Given the description of an element on the screen output the (x, y) to click on. 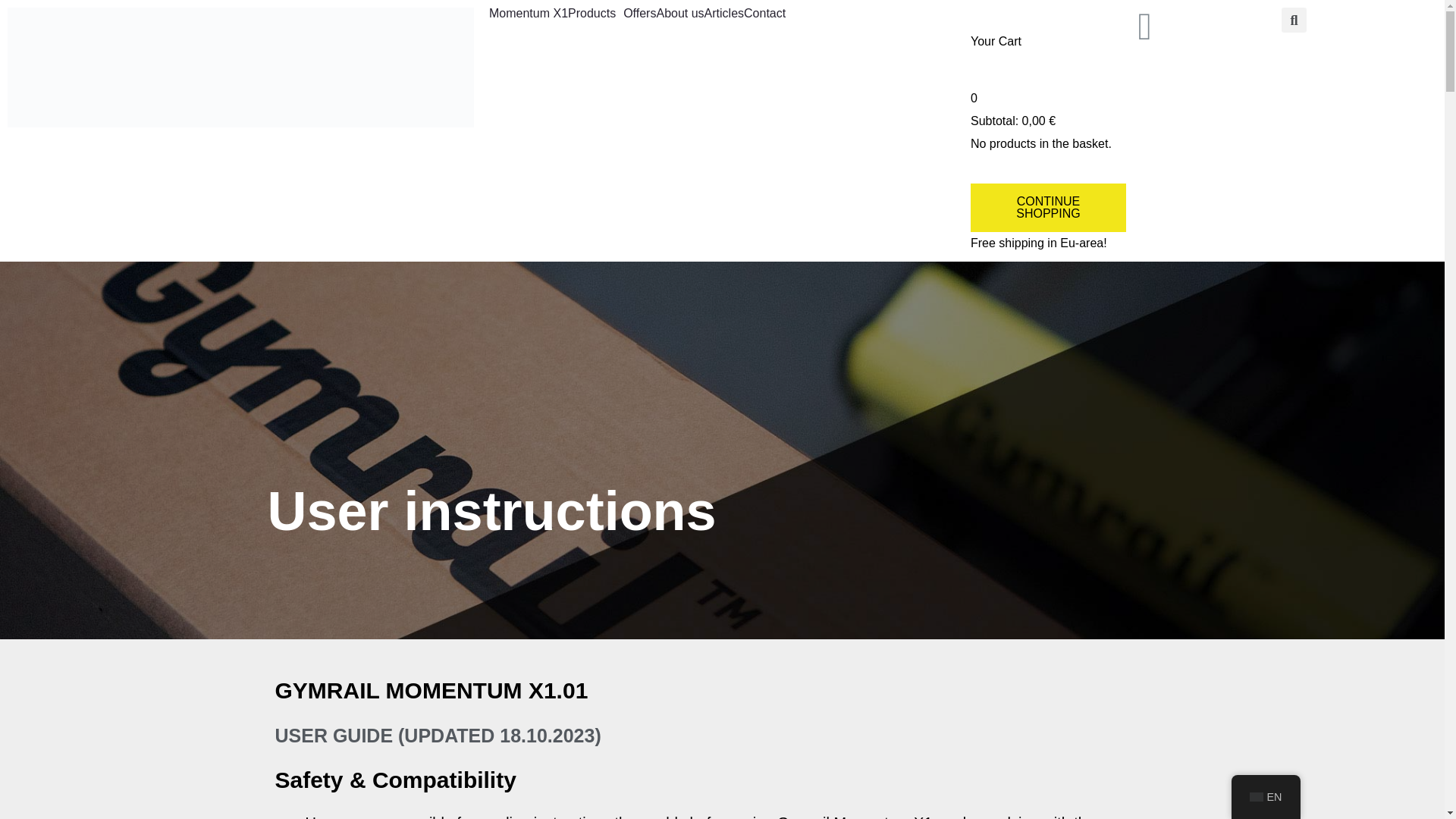
Contact (765, 13)
Products (595, 13)
About us (679, 13)
CONTINUE SHOPPING (1048, 207)
Articles (724, 13)
Offers (639, 13)
English (1256, 796)
Momentum X1 (528, 13)
